Given the description of an element on the screen output the (x, y) to click on. 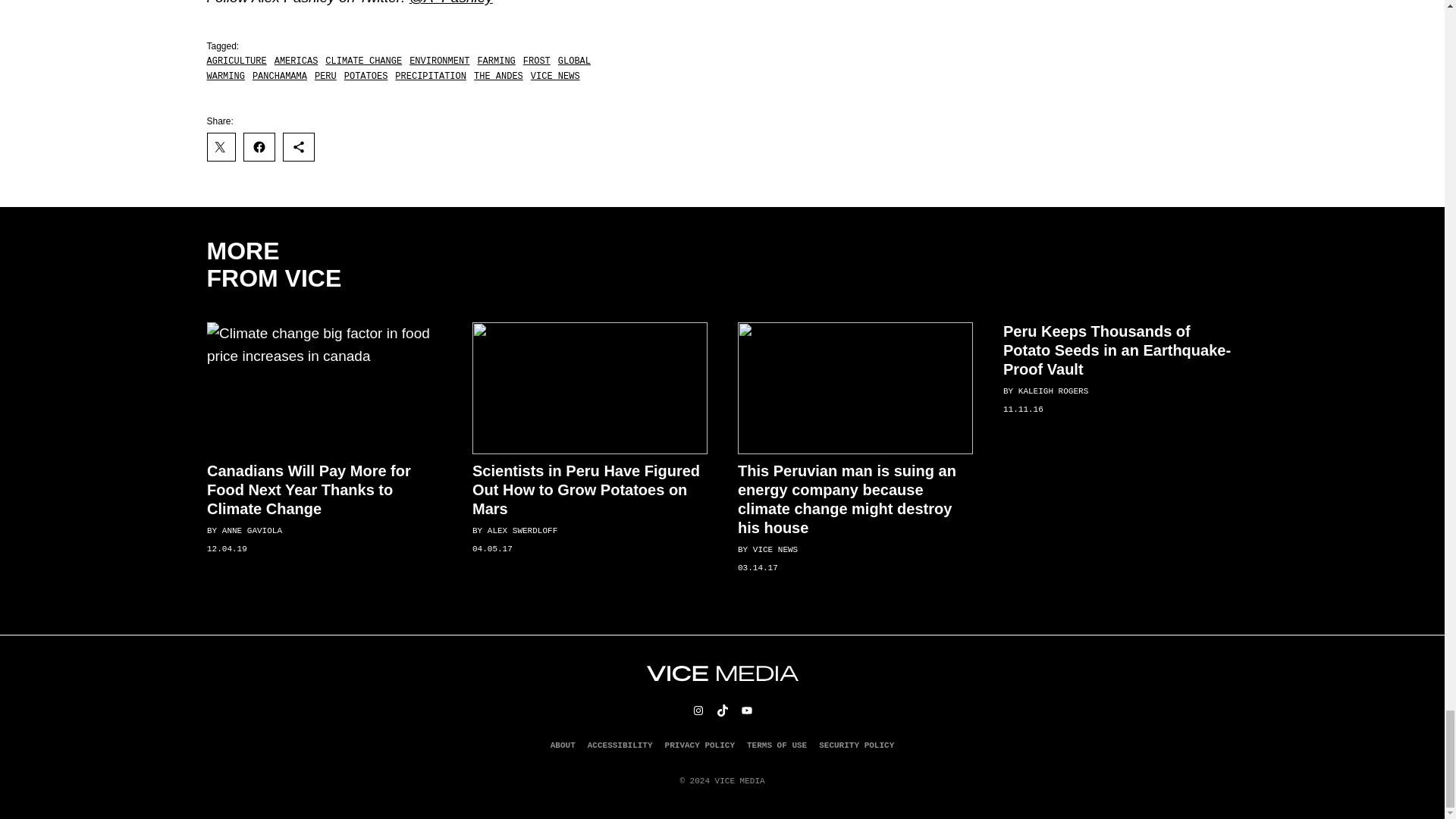
Posts by Kaleigh Rogers (1052, 390)
Posts by Alex Swerdloff (521, 531)
Posts by Anne Gaviola (251, 531)
Posts by VICE News (774, 550)
